Given the description of an element on the screen output the (x, y) to click on. 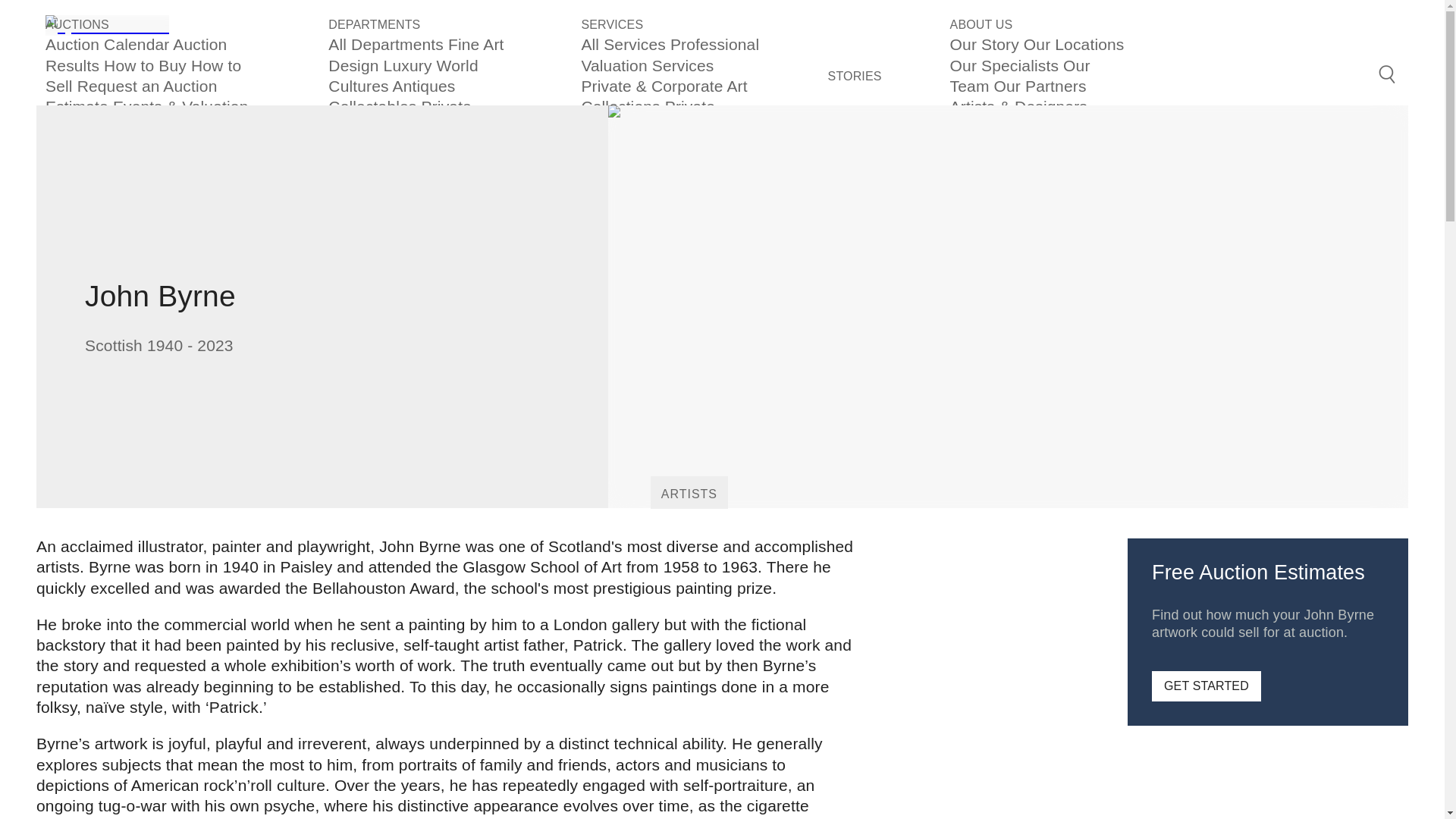
GET STARTED (1205, 685)
Luxury (410, 65)
Professional Valuation Services (669, 54)
Private Sales (647, 116)
Our Specialists (1006, 65)
How to Sell (143, 75)
Antiques (424, 85)
Private Collections (400, 116)
Auction Calendar (109, 44)
Our Partners (1040, 85)
All Services (624, 44)
How to Buy (146, 65)
STORIES (855, 76)
World Cultures (403, 75)
Fine Art (475, 44)
